Given the description of an element on the screen output the (x, y) to click on. 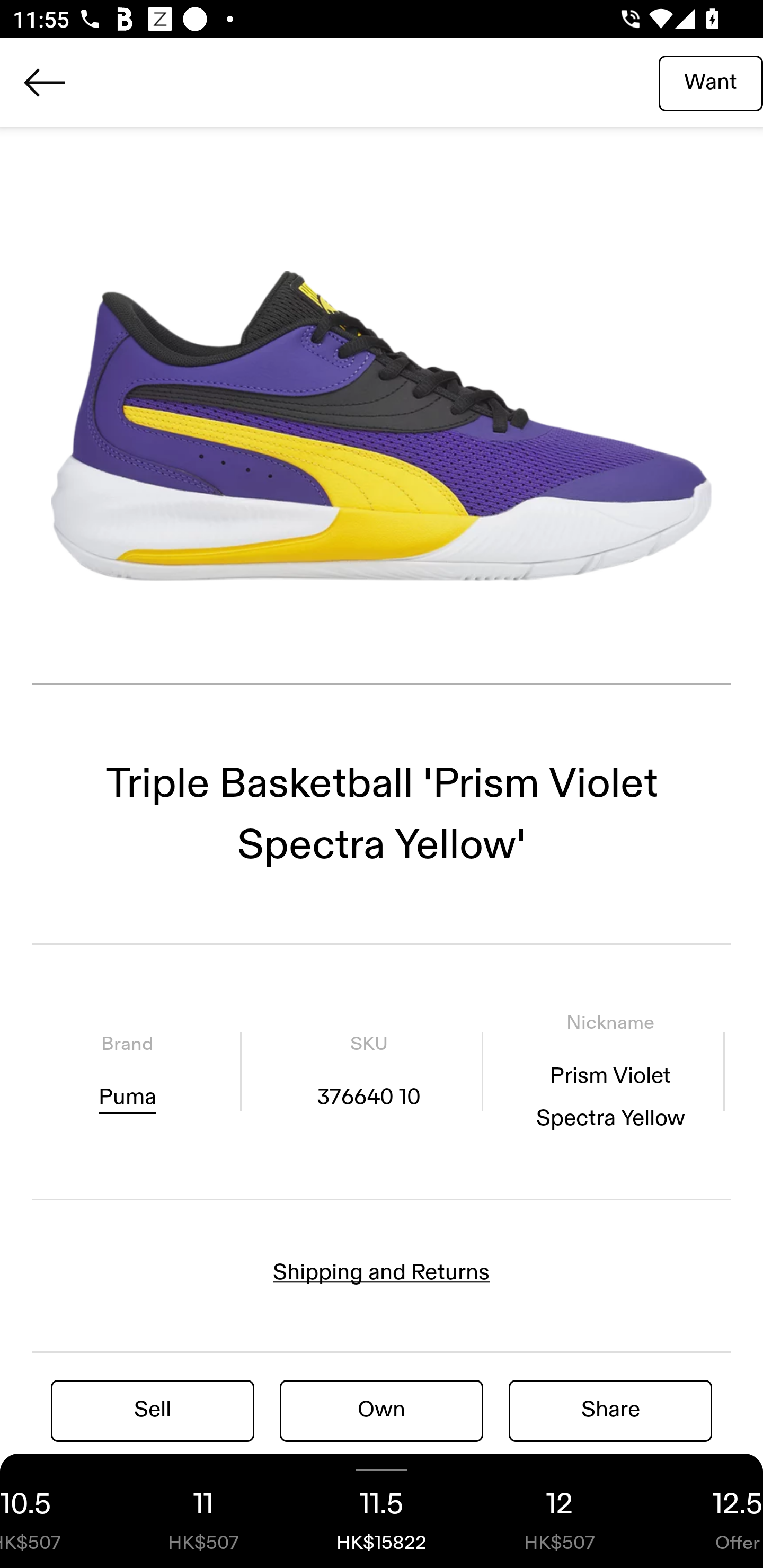
Want (710, 82)
Brand Puma (126, 1070)
SKU 376640 10 (368, 1070)
Nickname Prism Violet Spectra Yellow (609, 1070)
Shipping and Returns (381, 1272)
Sell (152, 1410)
Own (381, 1410)
Share (609, 1410)
10.5 HK$507 (57, 1510)
11 HK$507 (203, 1510)
11.5 HK$15822 (381, 1510)
12 HK$507 (559, 1510)
12.5 Offer (705, 1510)
